Given the description of an element on the screen output the (x, y) to click on. 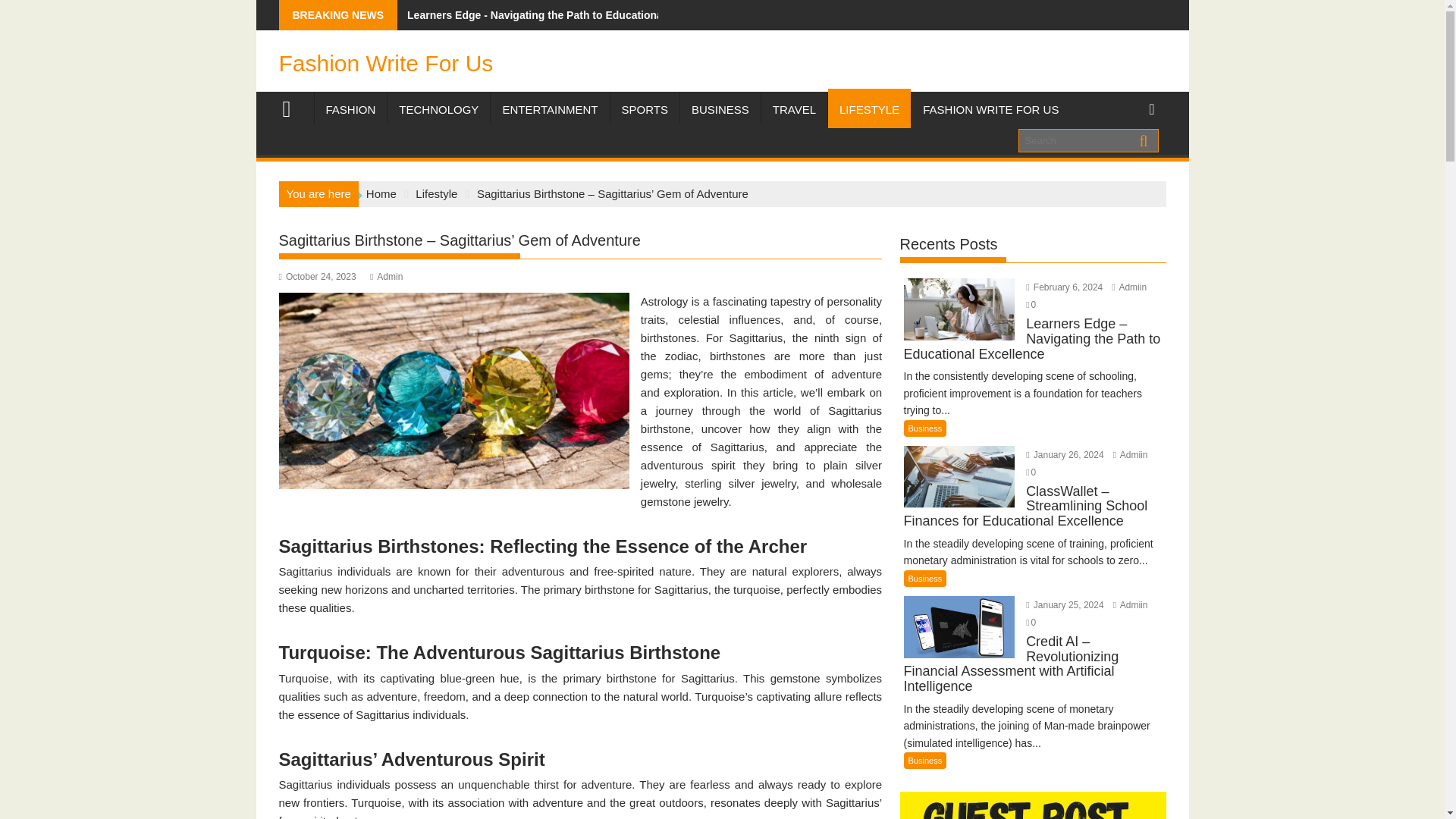
FASHION WRITE FOR US (990, 109)
Admin (386, 276)
BUSINESS (719, 109)
ENTERTAINMENT (549, 109)
SPORTS (644, 109)
Home (381, 193)
LIFESTYLE (869, 109)
TECHNOLOGY (438, 109)
Lifestyle (435, 193)
FASHION (350, 109)
Fashion Write For Us (386, 63)
Fashion Write For Us (293, 106)
